Given the description of an element on the screen output the (x, y) to click on. 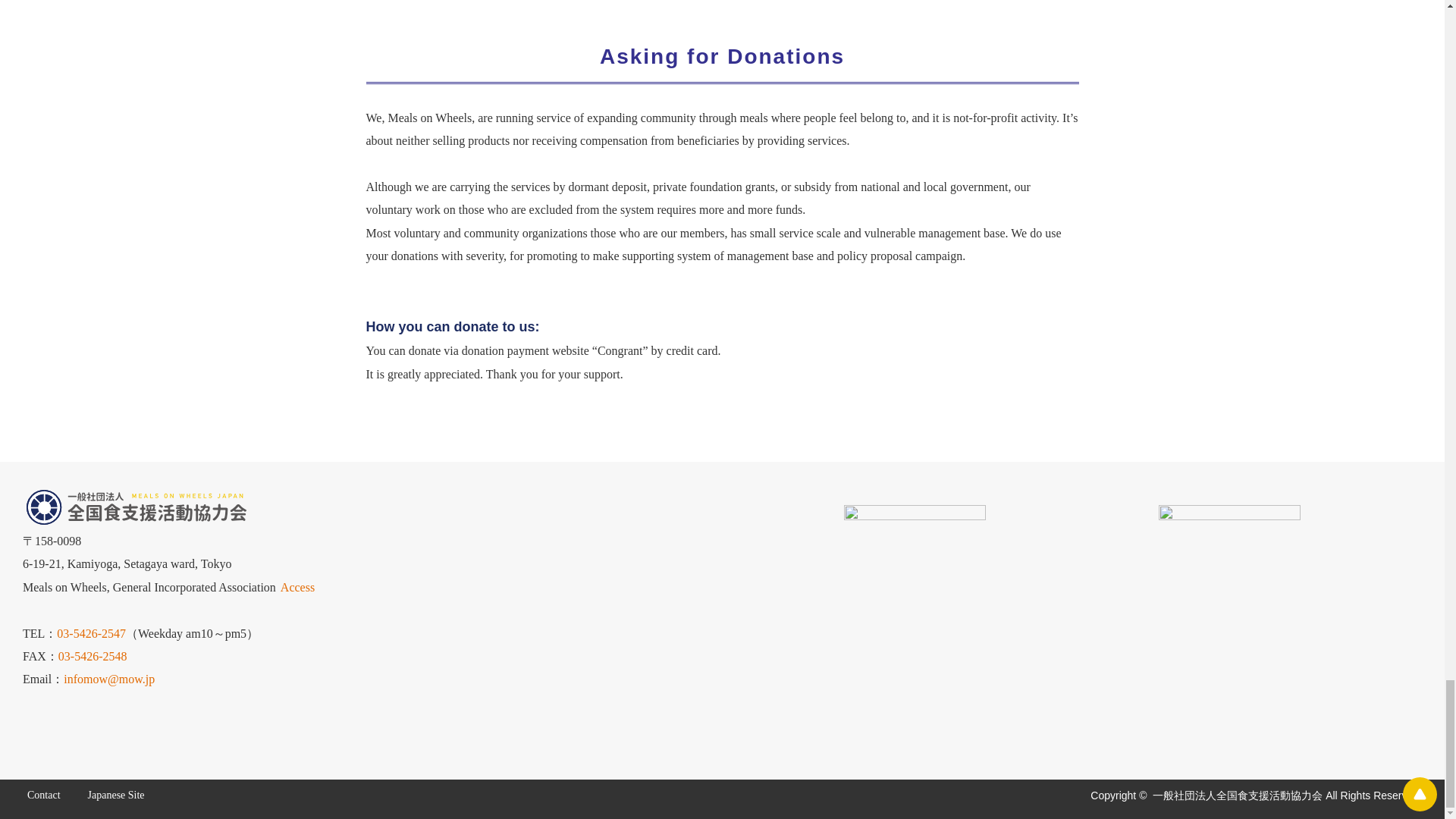
03-5426-2547 (90, 633)
Contact (52, 795)
Access (295, 586)
03-5426-2548 (93, 656)
Japanese Site (124, 795)
